Given the description of an element on the screen output the (x, y) to click on. 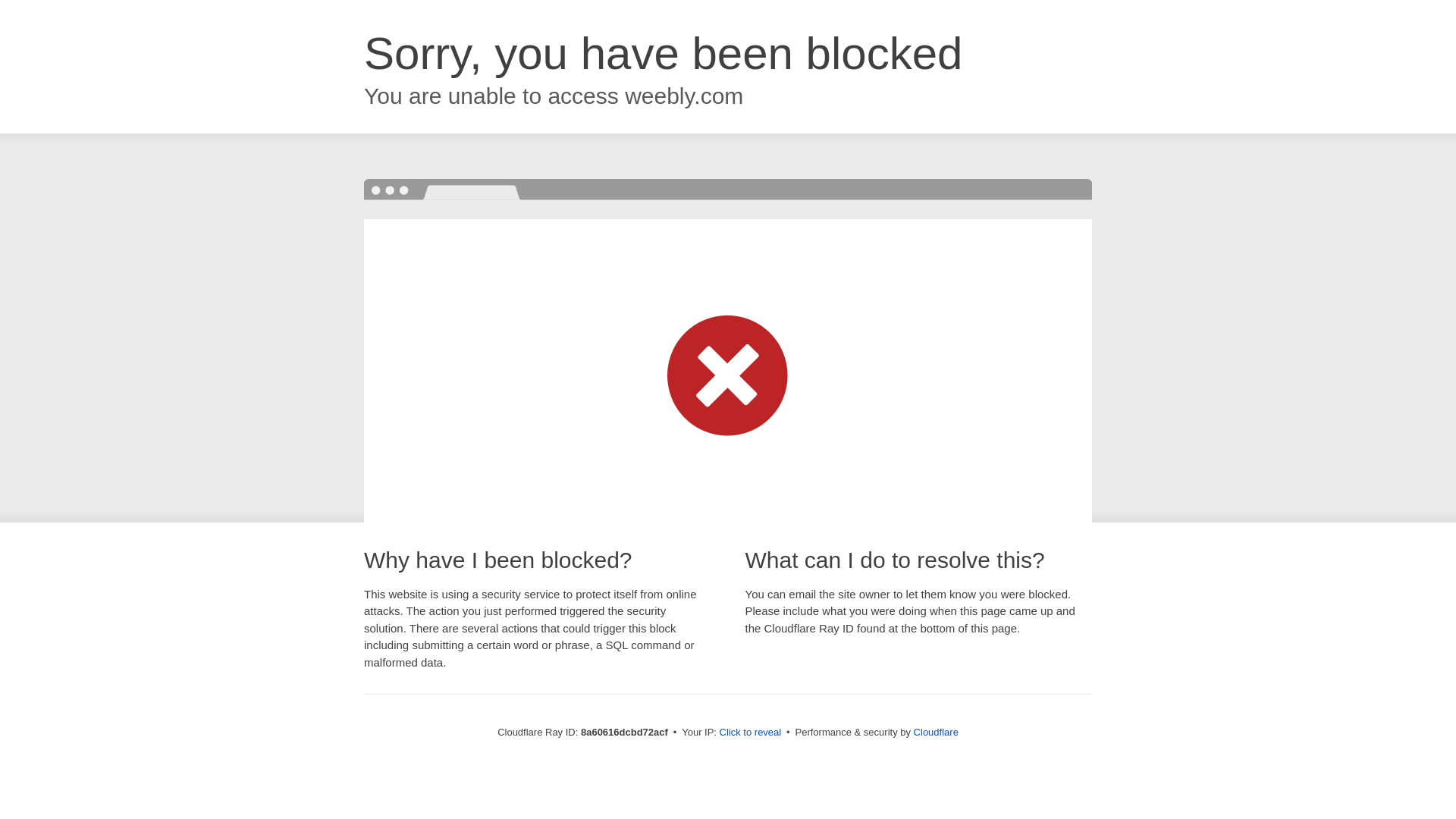
Cloudflare (936, 731)
Click to reveal (750, 732)
